Given the description of an element on the screen output the (x, y) to click on. 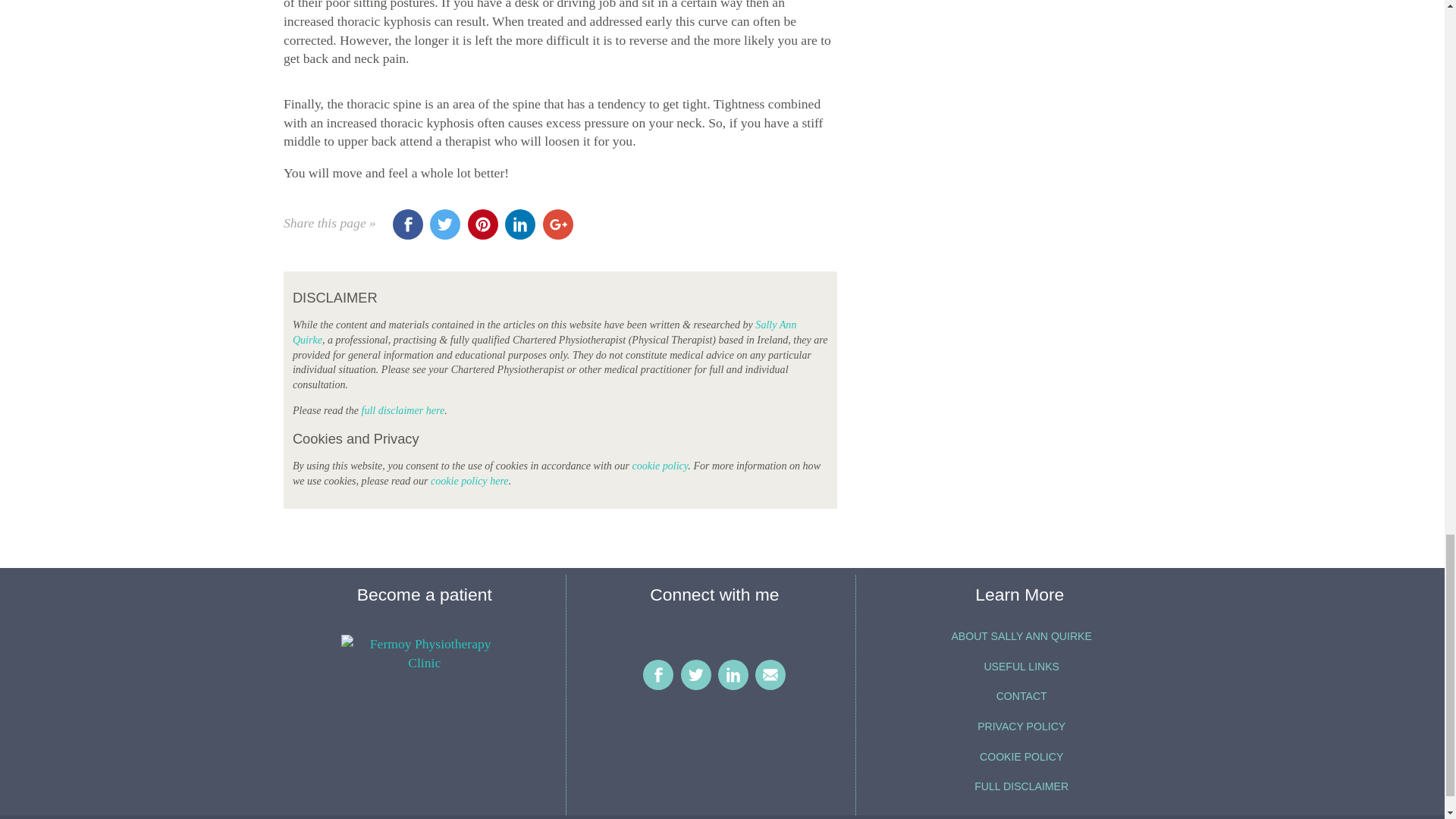
Contact us (770, 675)
Connect on Linked in (732, 675)
Share on Facebook (408, 224)
Follow us on Twitter (696, 675)
Share on Pinterest (482, 224)
Share on Linked in (520, 224)
Share on Google Plus (558, 224)
Share on Twitter (444, 224)
Follow us on Facebook (657, 675)
